Given the description of an element on the screen output the (x, y) to click on. 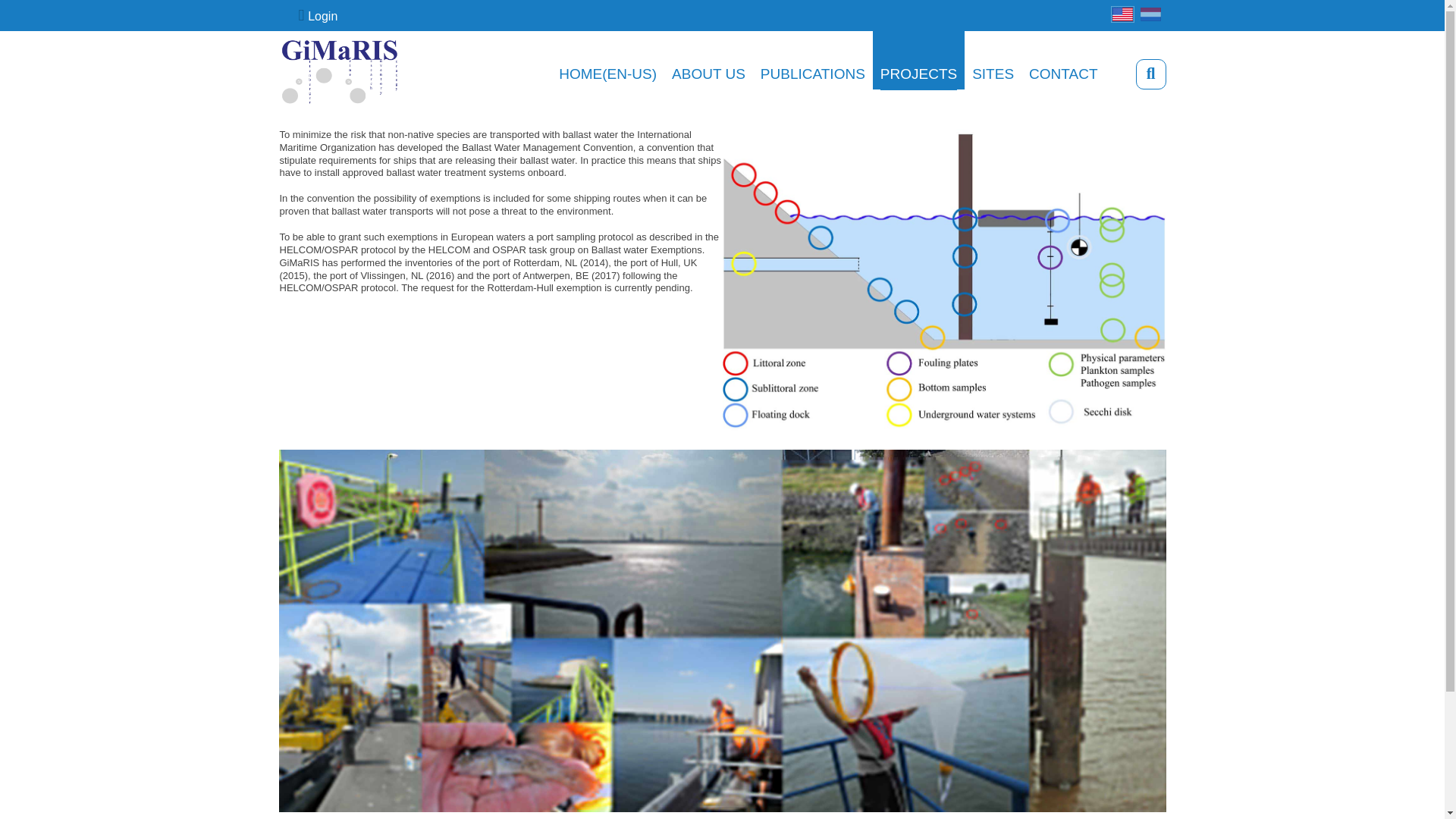
SITES (992, 73)
Login (317, 15)
Login (317, 15)
PROJECTS (918, 73)
PUBLICATIONS (812, 73)
CONTACT (1063, 73)
ABOUT US (708, 73)
gimaris (340, 72)
